Given the description of an element on the screen output the (x, y) to click on. 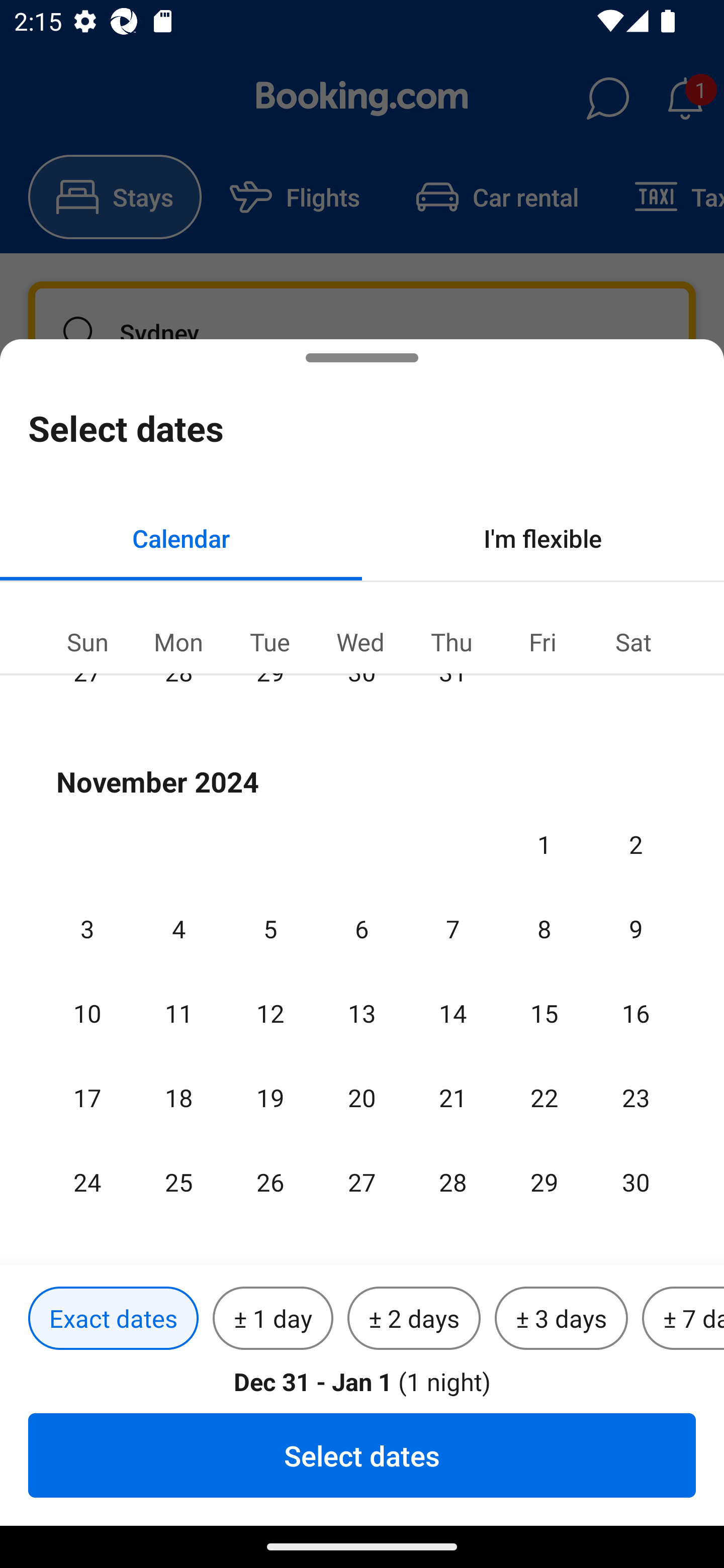
I'm flexible (543, 537)
Exact dates (113, 1318)
± 1 day (272, 1318)
± 2 days (413, 1318)
± 3 days (560, 1318)
± 7 days (683, 1318)
Select dates (361, 1454)
